Given the description of an element on the screen output the (x, y) to click on. 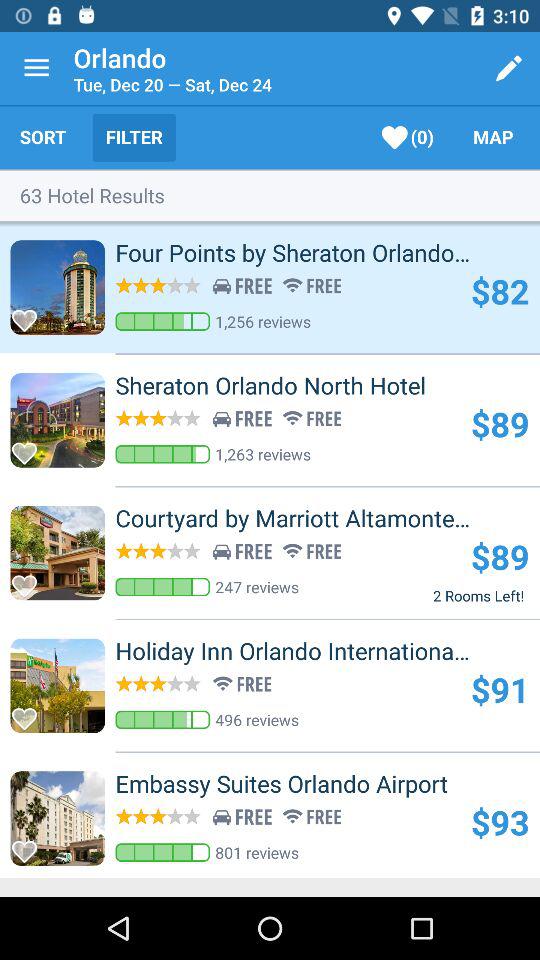
favorite or like this option (30, 447)
